Given the description of an element on the screen output the (x, y) to click on. 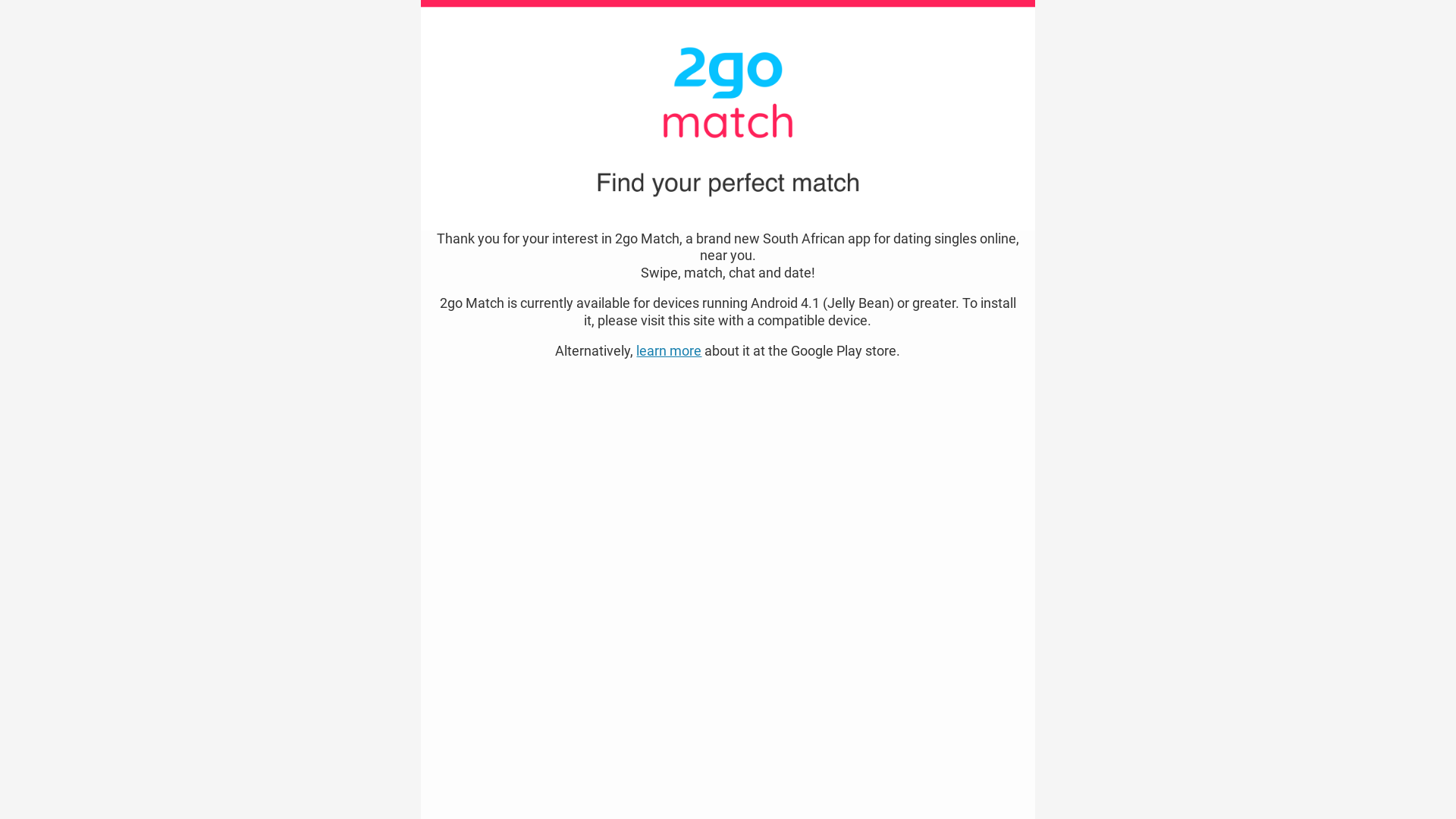
learn more Element type: text (668, 350)
